Given the description of an element on the screen output the (x, y) to click on. 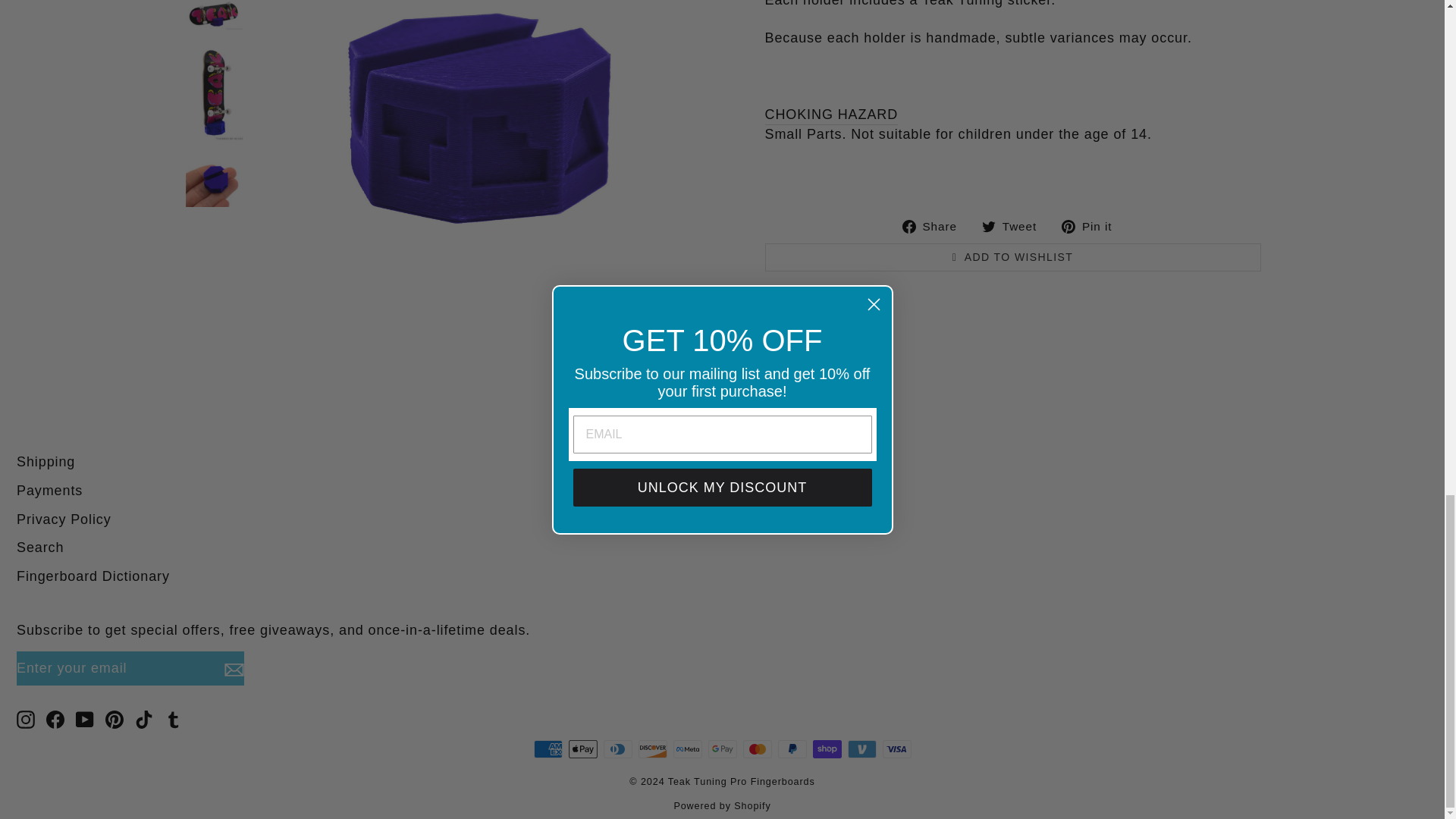
Teak Tuning Pro Fingerboards on Tumblr (173, 719)
Teak Tuning Pro Fingerboards on Instagram (25, 719)
Share on Facebook (935, 225)
Pin on Pinterest (1091, 225)
instagram (25, 719)
icon-email (234, 669)
twitter (988, 226)
Teak Tuning Pro Fingerboards on Pinterest (113, 719)
Teak Tuning Pro Fingerboards on Facebook (55, 719)
Tweet on Twitter (1014, 225)
Teak Tuning Pro Fingerboards on YouTube (84, 719)
Teak Tuning Pro Fingerboards on TikTok (143, 719)
